Given the description of an element on the screen output the (x, y) to click on. 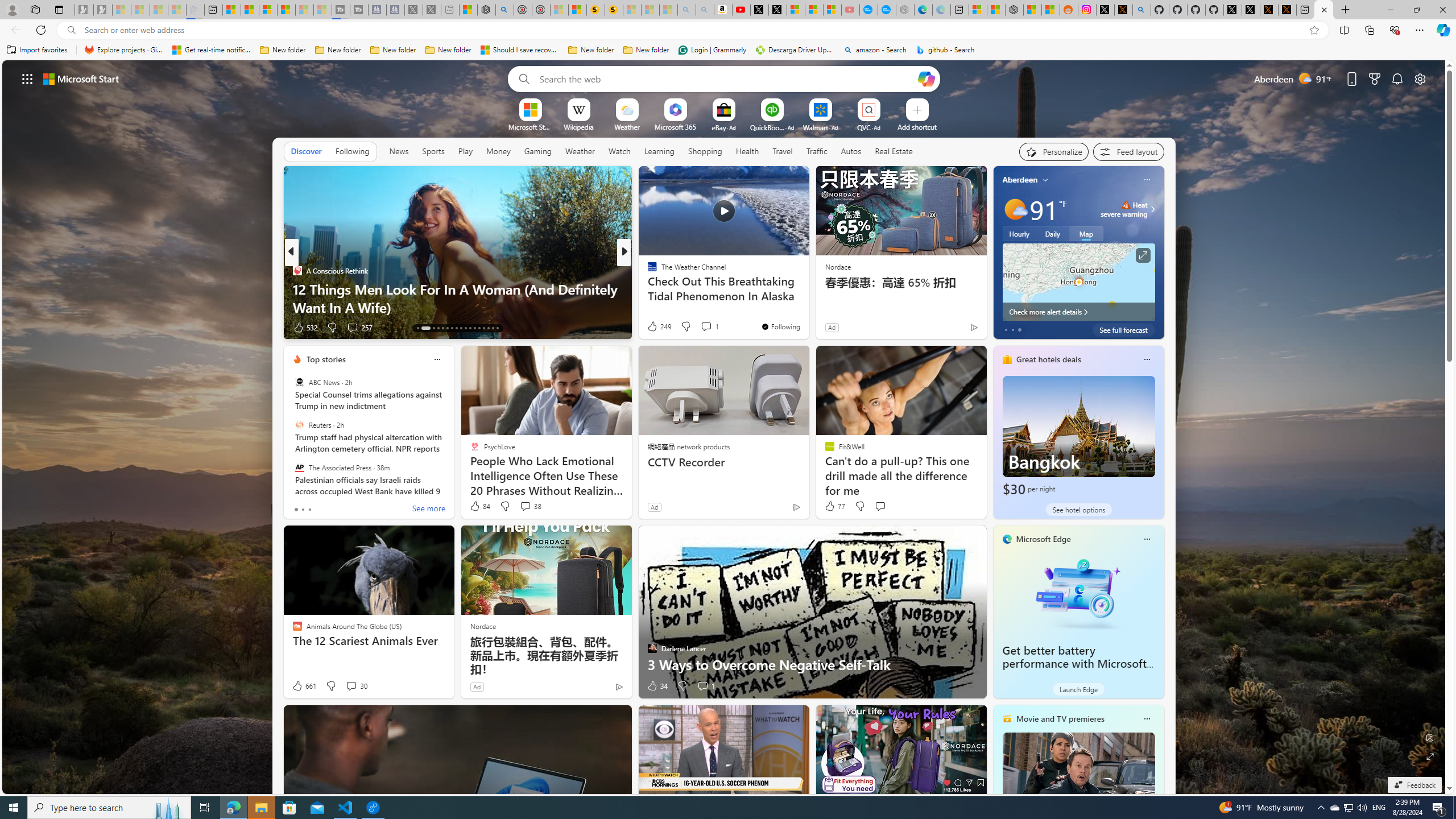
View comments 192 Comment (709, 327)
3 Like (651, 327)
CBS News (647, 270)
X Privacy Policy (1287, 9)
AutomationID: tab-17 (442, 328)
View comments 257 Comment (352, 327)
